Given the description of an element on the screen output the (x, y) to click on. 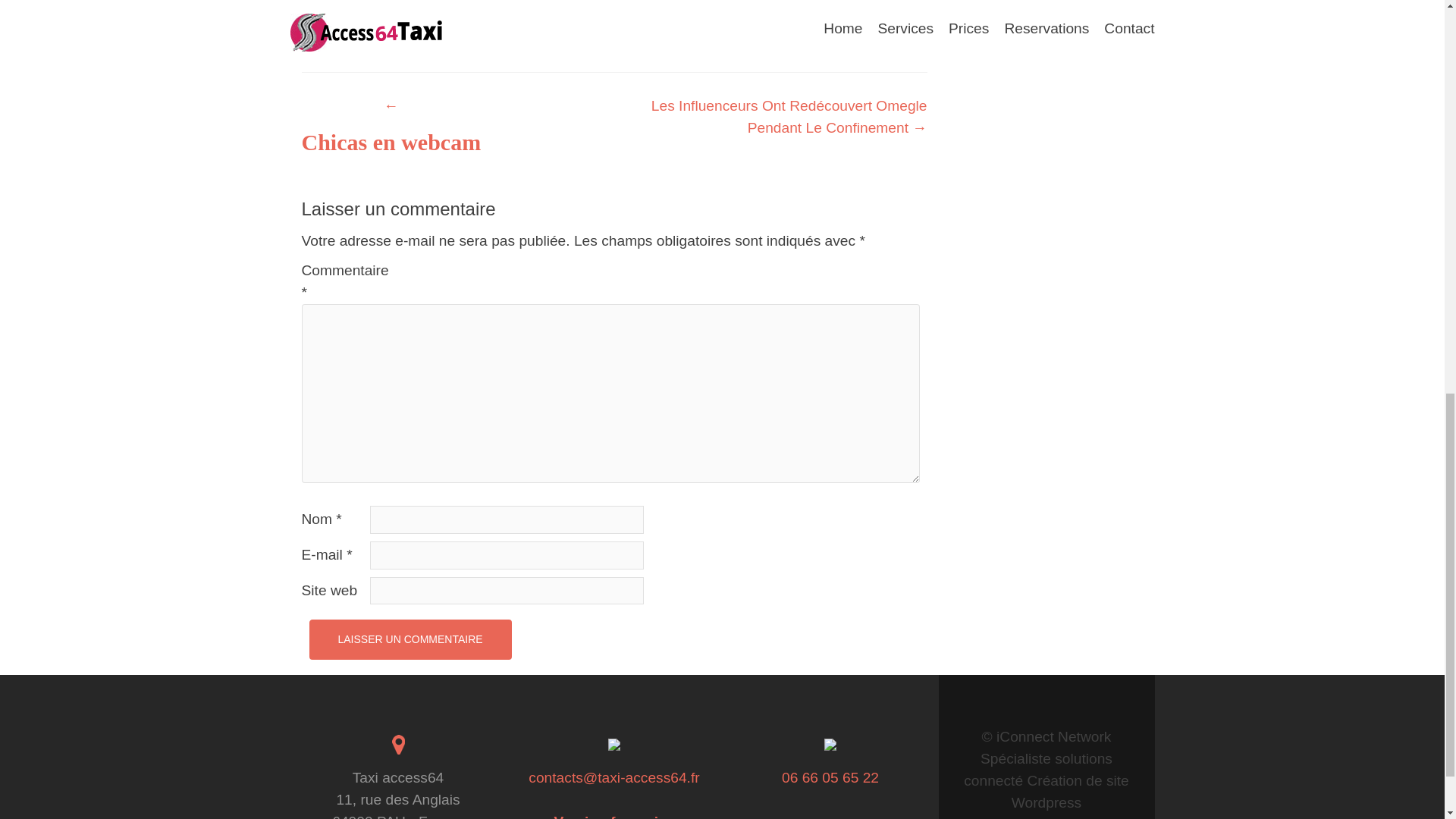
06 66 05 65 22 (830, 777)
Laisser un commentaire (410, 639)
Laisser un commentaire (410, 639)
permalink (667, 37)
